Given the description of an element on the screen output the (x, y) to click on. 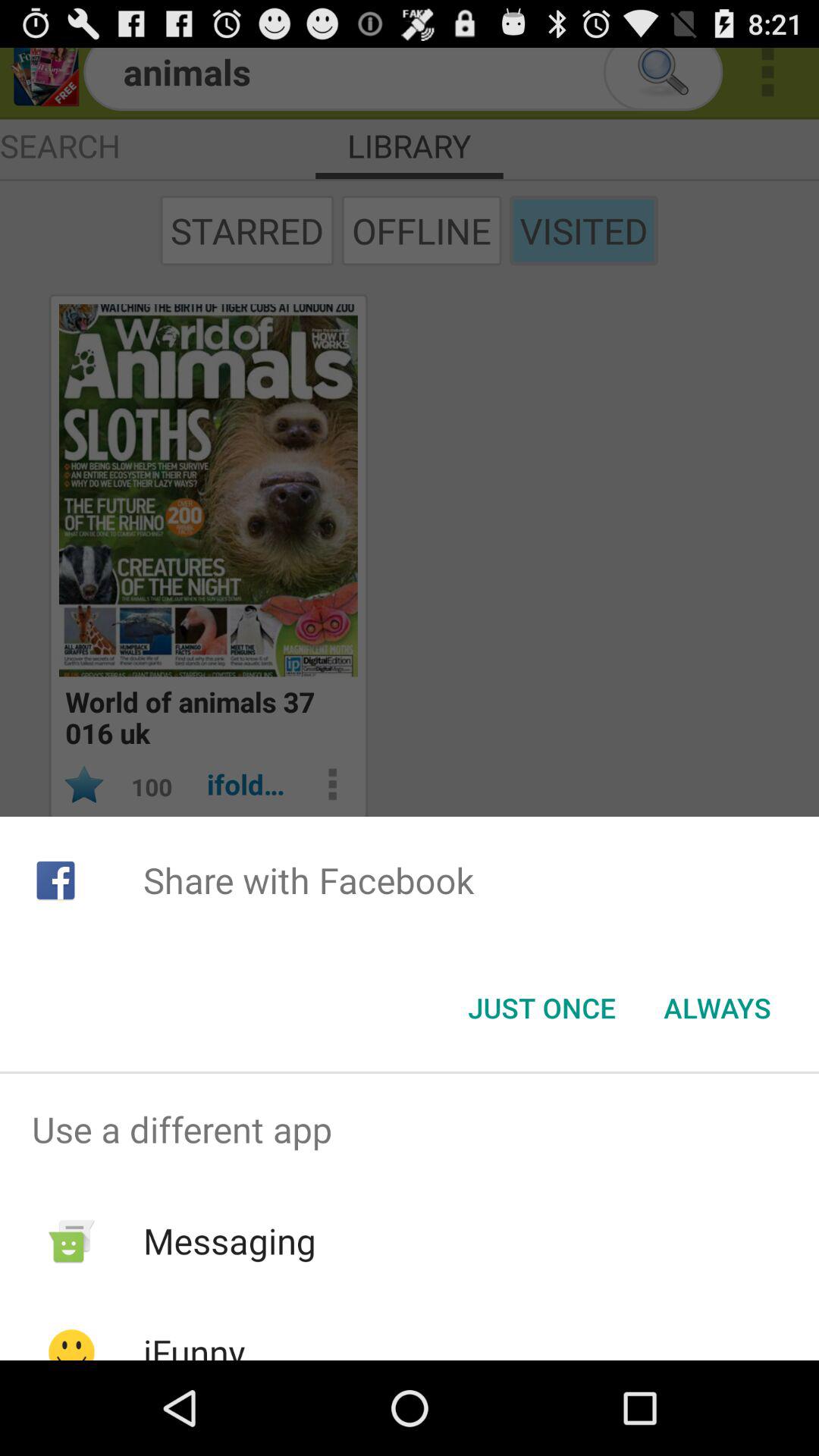
turn off button at the bottom right corner (717, 1007)
